Given the description of an element on the screen output the (x, y) to click on. 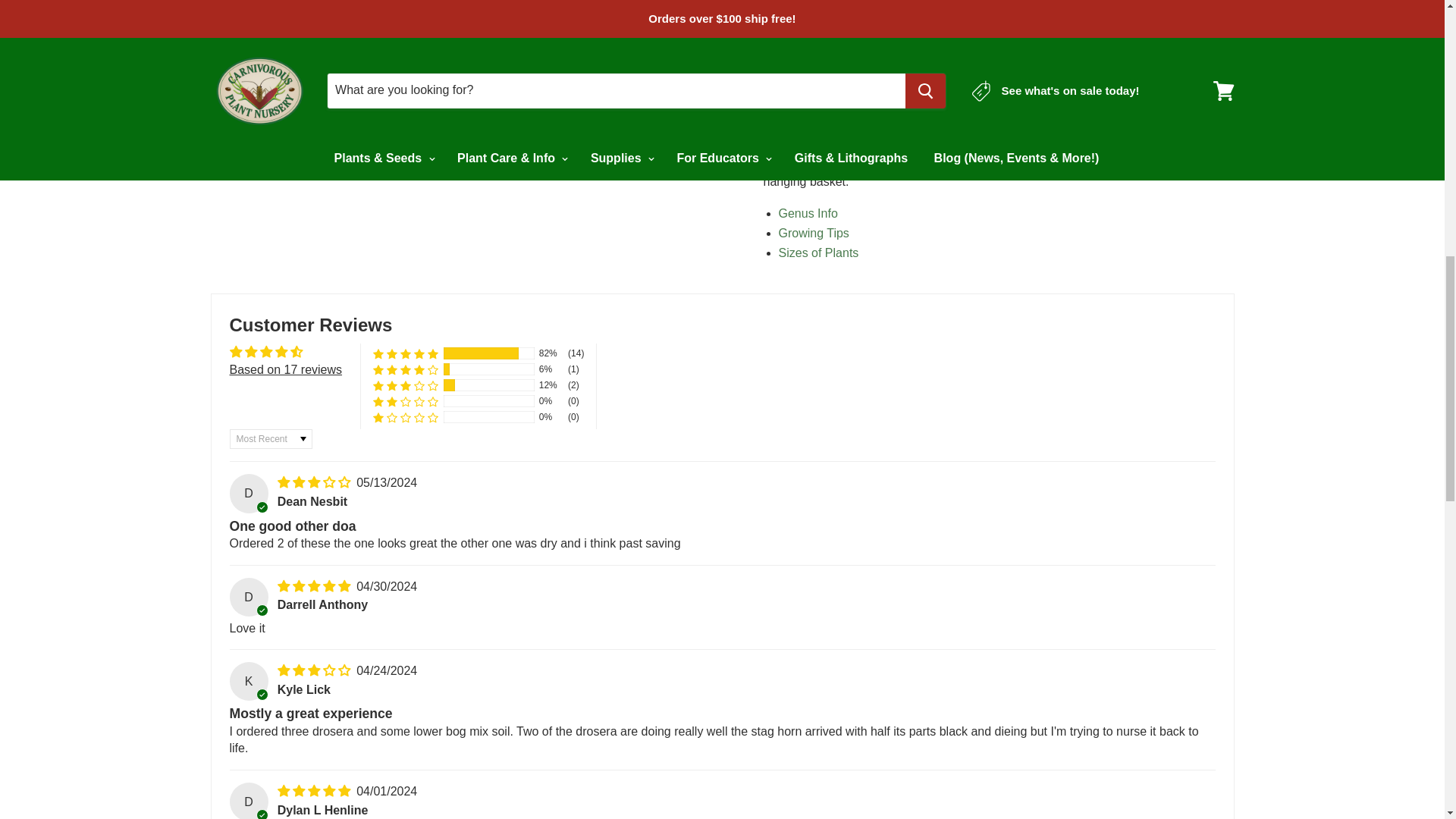
All purpose carnivorous plant soil mix (931, 122)
Lower bog carnivorous plant soil mix (833, 122)
